Given the description of an element on the screen output the (x, y) to click on. 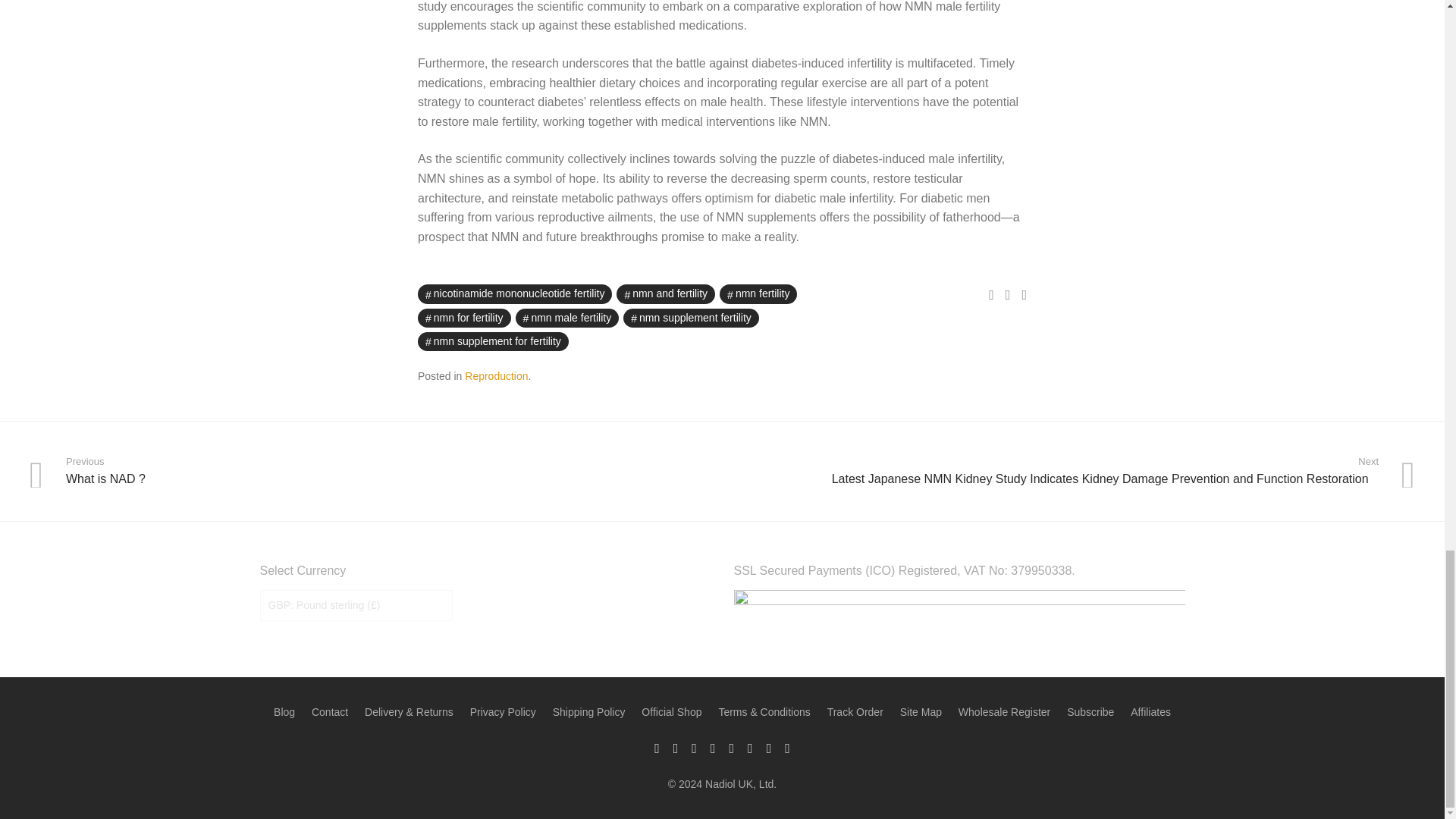
nmn supplement fertility (690, 317)
nmn fertility (757, 293)
nicotinamide mononucleotide fertility (514, 293)
nmn and fertility (664, 293)
nmn supplement for fertility (493, 341)
Reproduction (495, 376)
nmn male fertility (567, 317)
nmn for fertility (464, 317)
